Given the description of an element on the screen output the (x, y) to click on. 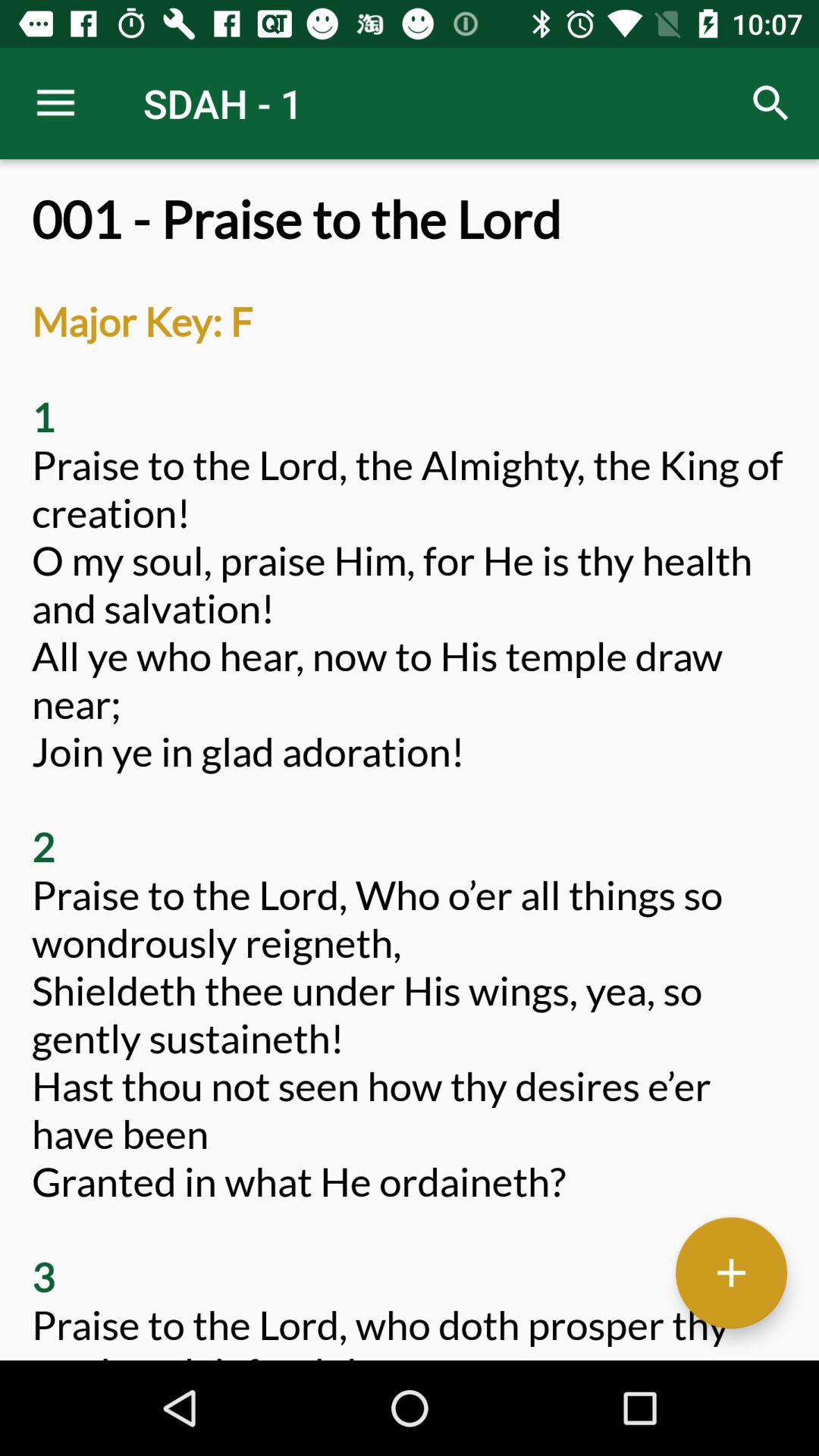
jump to 001 praise to icon (409, 775)
